Given the description of an element on the screen output the (x, y) to click on. 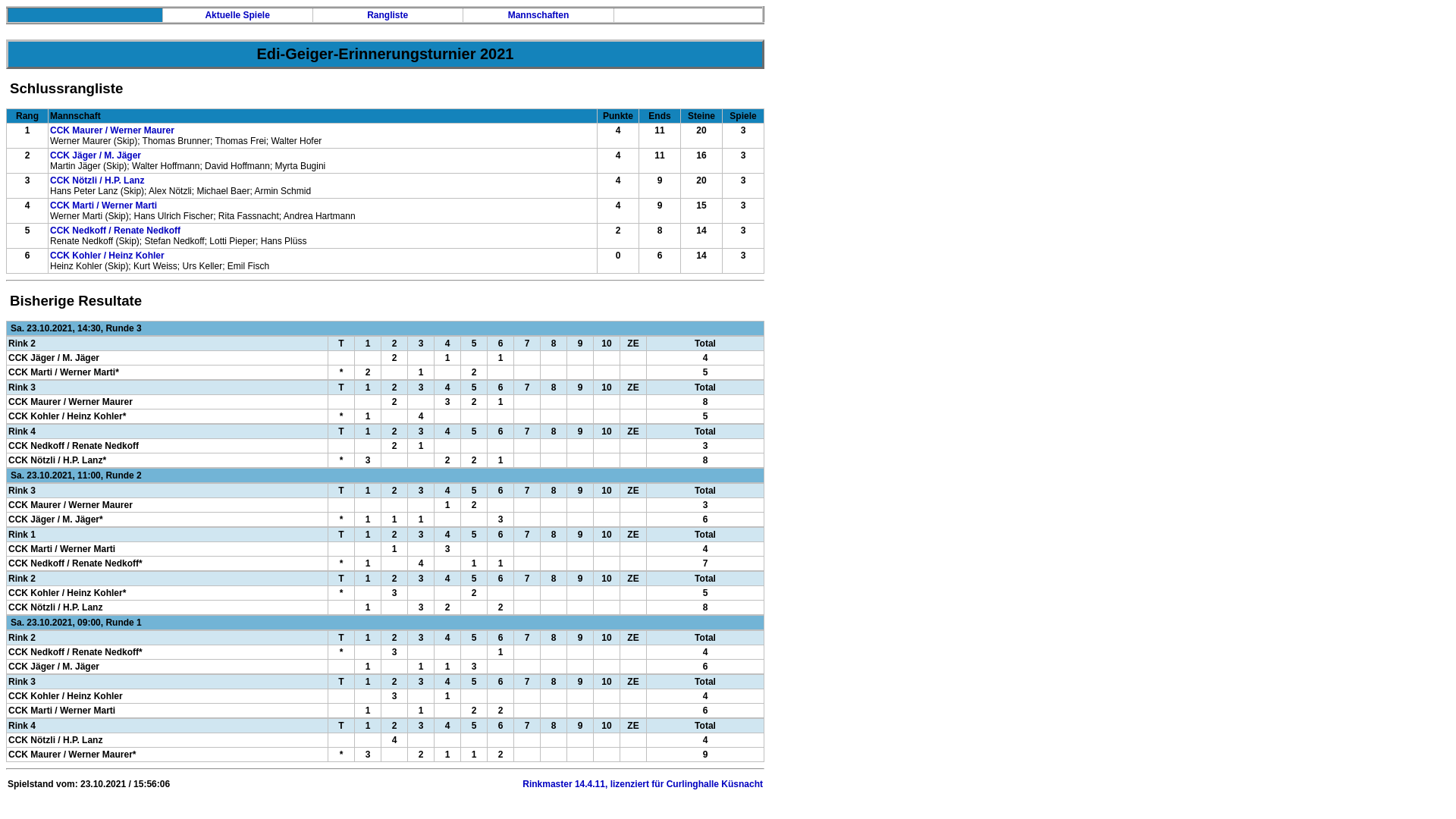
CCK Marti / Werner Marti Element type: text (103, 205)
Mannschaften Element type: text (538, 14)
CCK Kohler / Heinz Kohler Element type: text (107, 255)
Aktuelle Spiele Element type: text (236, 14)
Rangliste Element type: text (387, 14)
CCK Maurer / Werner Maurer Element type: text (112, 130)
CCK Nedkoff / Renate Nedkoff Element type: text (115, 230)
